Given the description of an element on the screen output the (x, y) to click on. 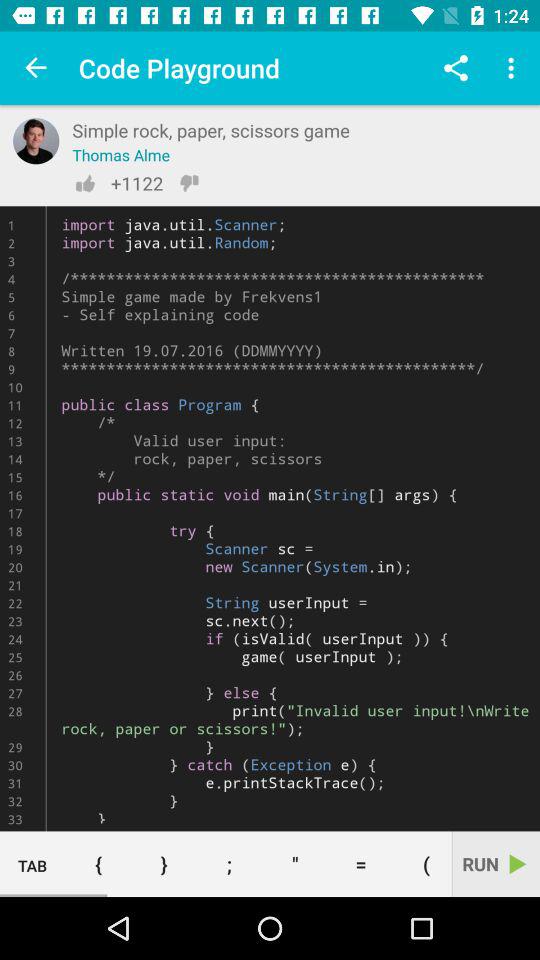
like item (85, 183)
